Given the description of an element on the screen output the (x, y) to click on. 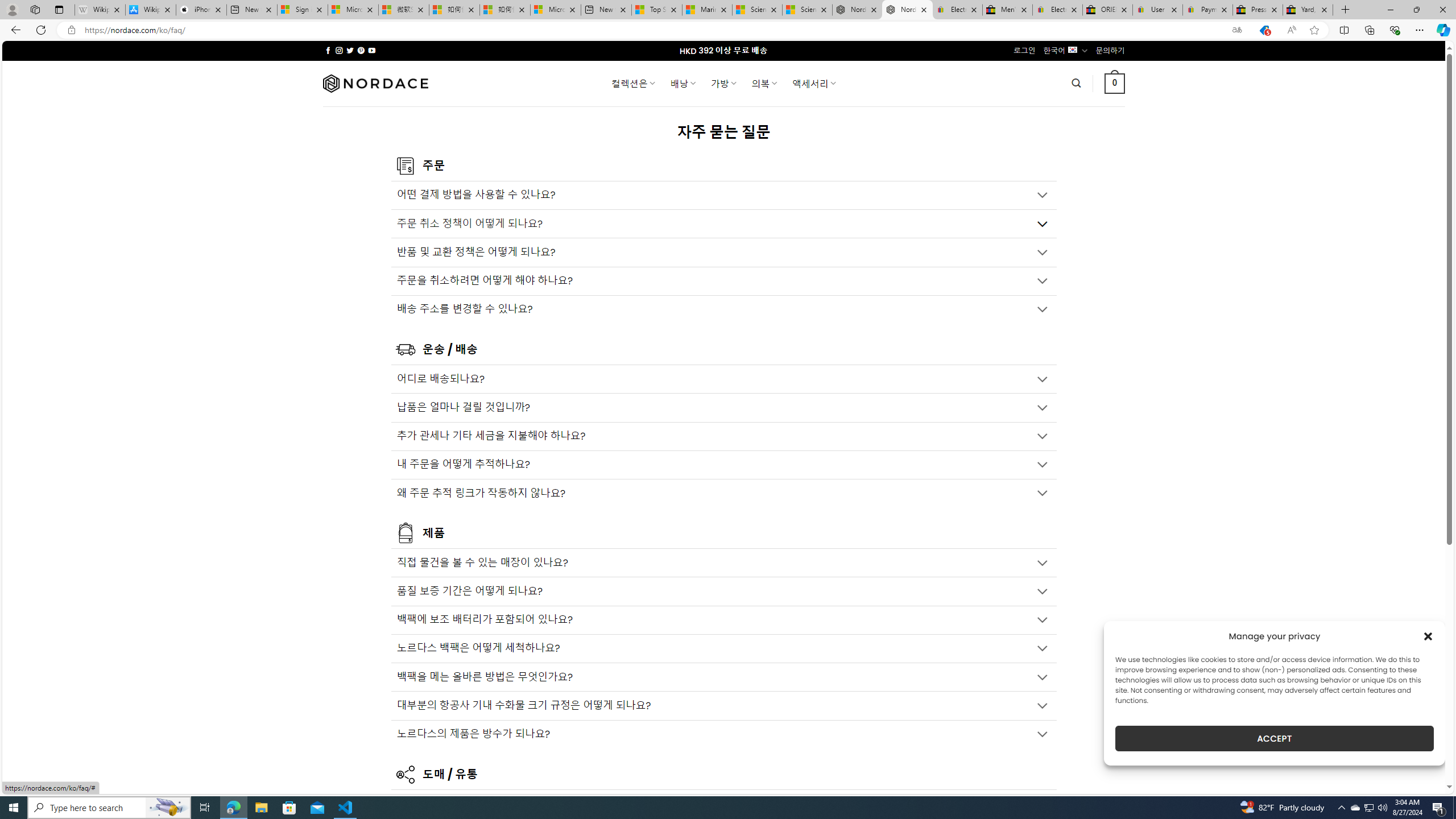
 0  (1115, 83)
Payments Terms of Use | eBay.com (1207, 9)
